Given the description of an element on the screen output the (x, y) to click on. 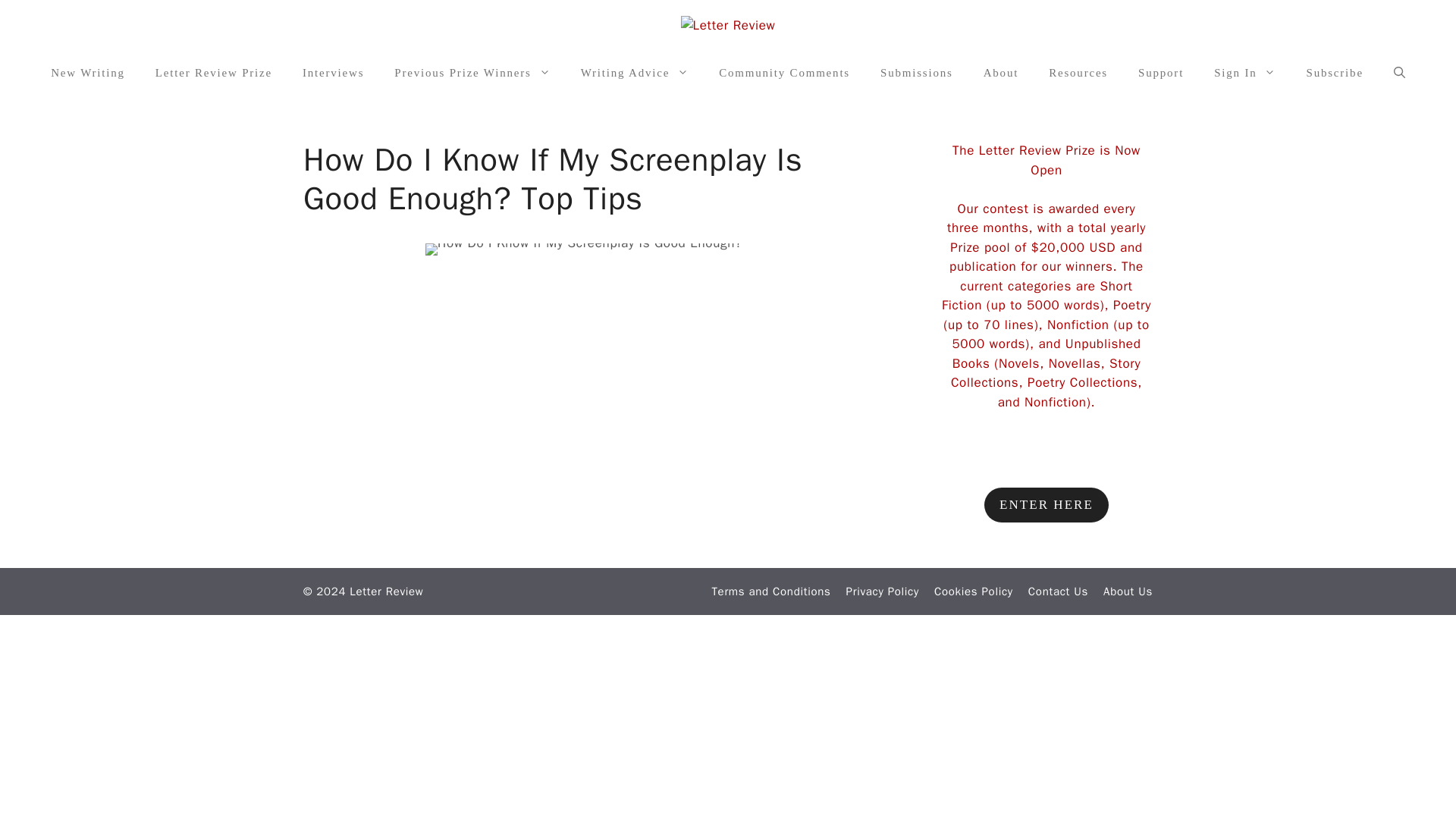
Interviews (332, 72)
Submissions (916, 72)
Subscribe (1333, 72)
Community Comments (783, 72)
Letter Review Prize (212, 72)
Support (1160, 72)
How Do I Know If My Screenplay Is Good Enough? Top Tips (584, 211)
Resources (1077, 72)
Writing Advice (635, 72)
Sign In (1244, 72)
